Given the description of an element on the screen output the (x, y) to click on. 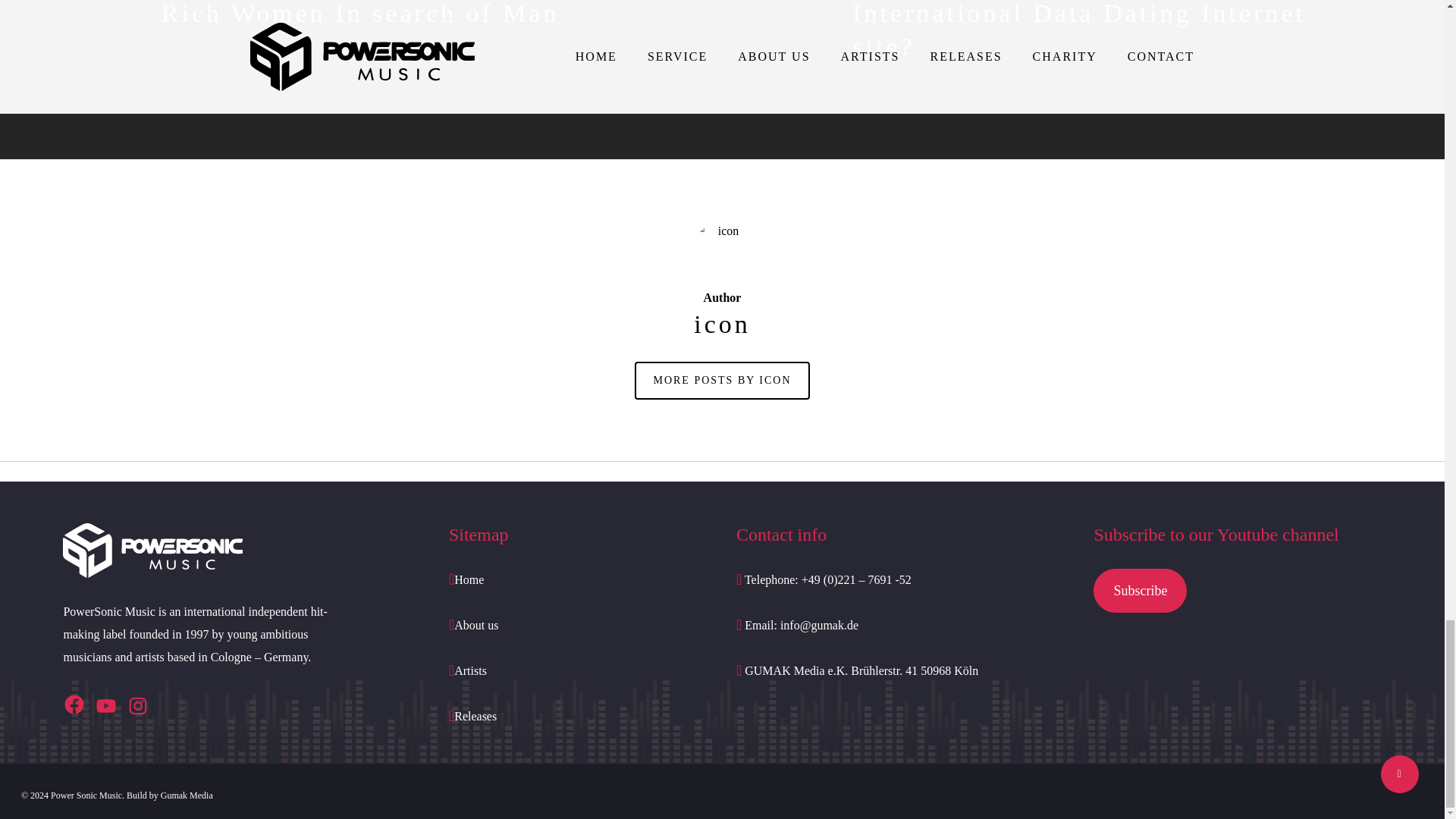
MORE POSTS BY ICON (721, 380)
